Given the description of an element on the screen output the (x, y) to click on. 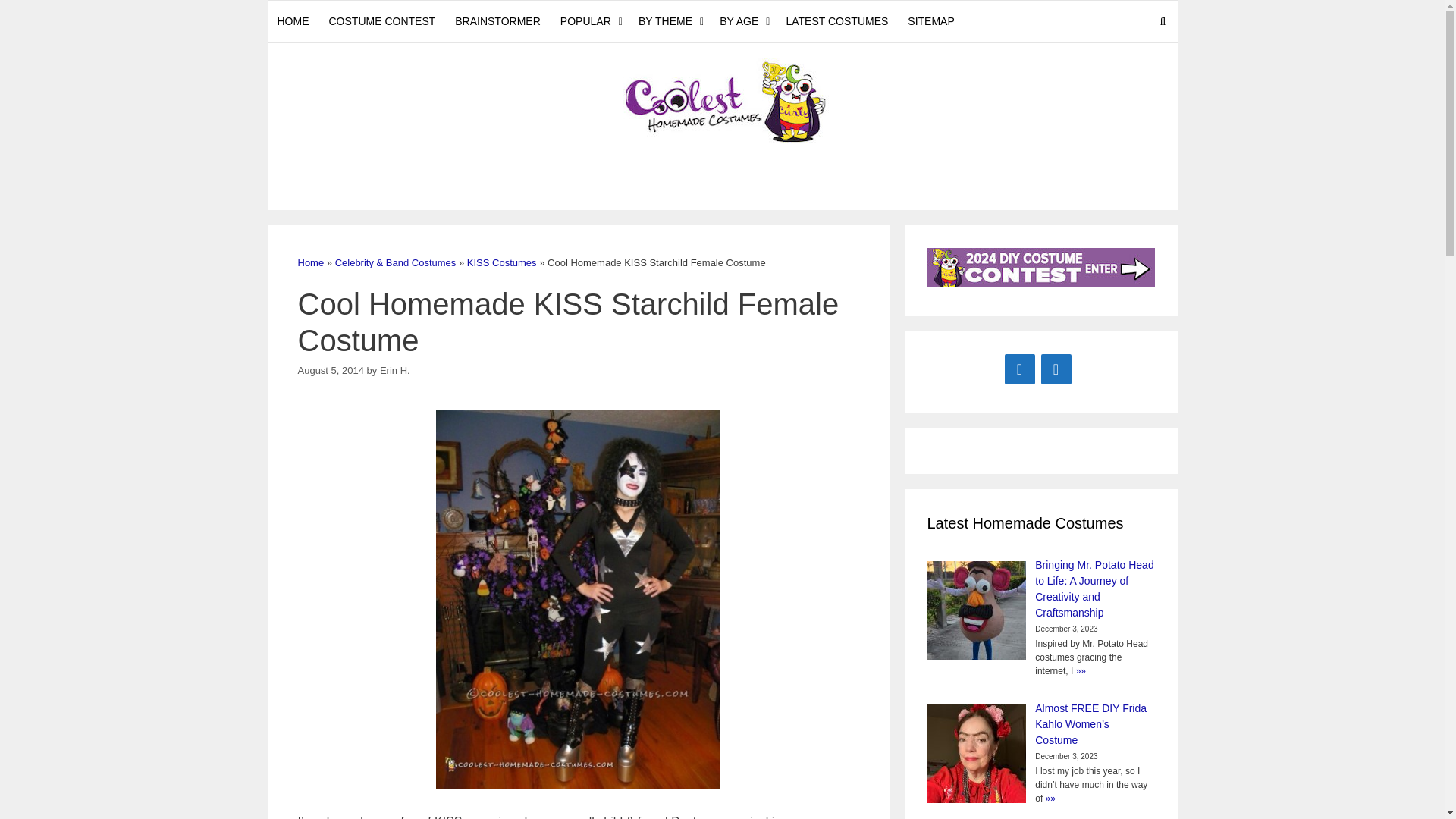
Instagram (1055, 368)
BRAINSTORMER (497, 21)
POPULAR (589, 21)
SITEMAP (930, 21)
LATEST COSTUMES (837, 21)
BY AGE (743, 21)
View all posts by Erin H. (395, 369)
BY THEME (669, 21)
Facebook (1018, 368)
HOME (292, 21)
